Given the description of an element on the screen output the (x, y) to click on. 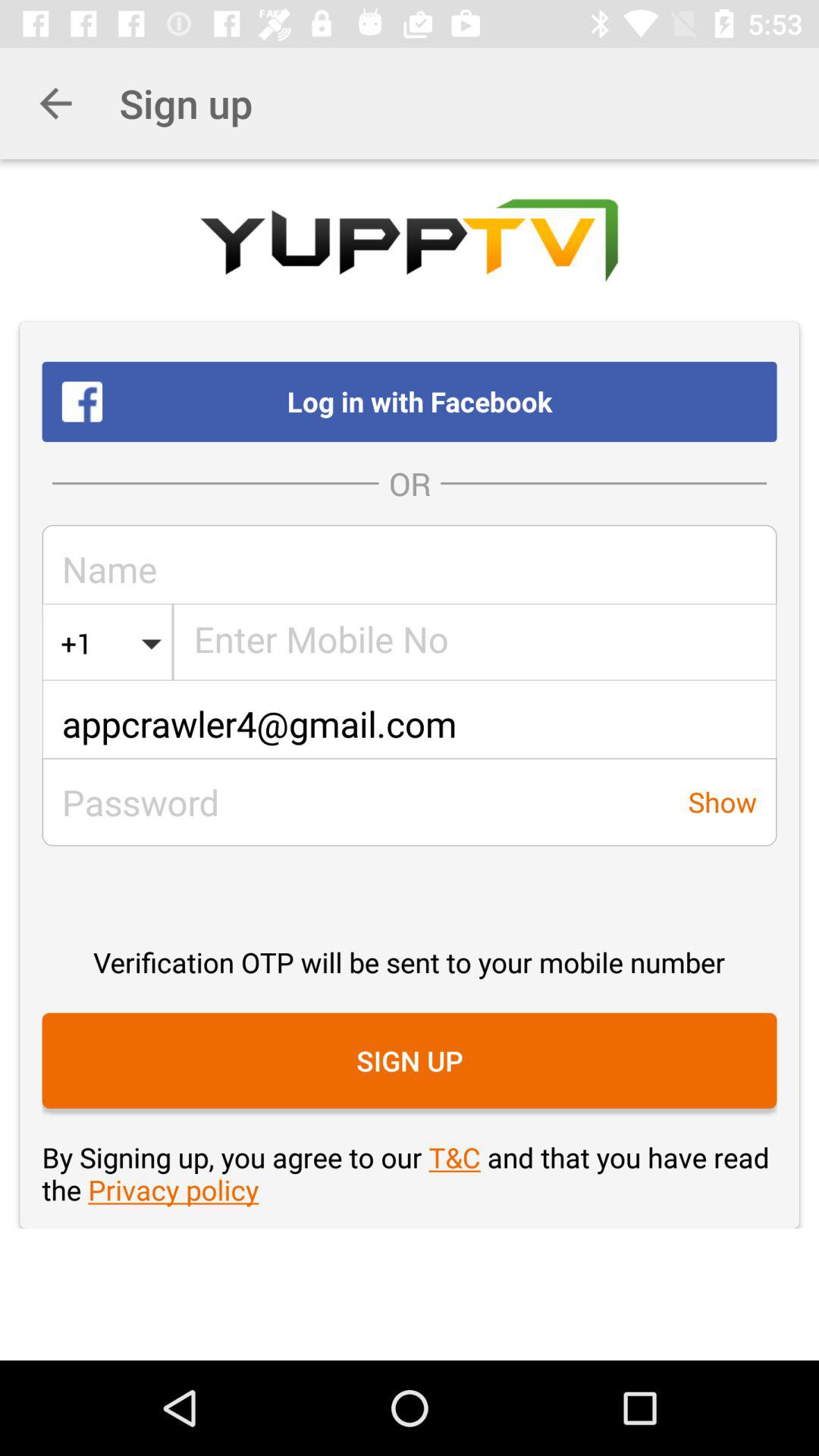
swipe to the log in with item (409, 401)
